Given the description of an element on the screen output the (x, y) to click on. 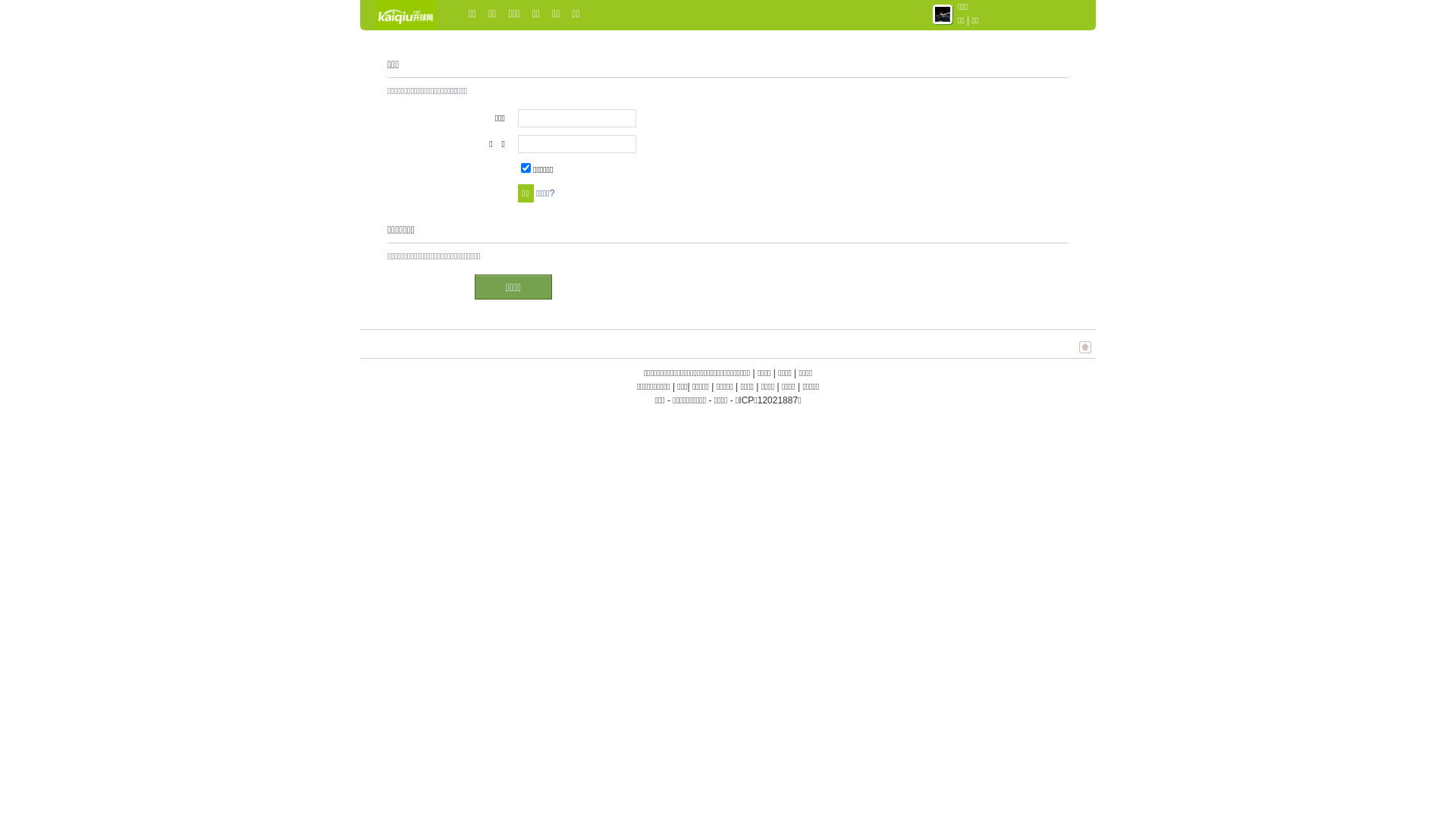
TOP Element type: hover (1084, 354)
